Given the description of an element on the screen output the (x, y) to click on. 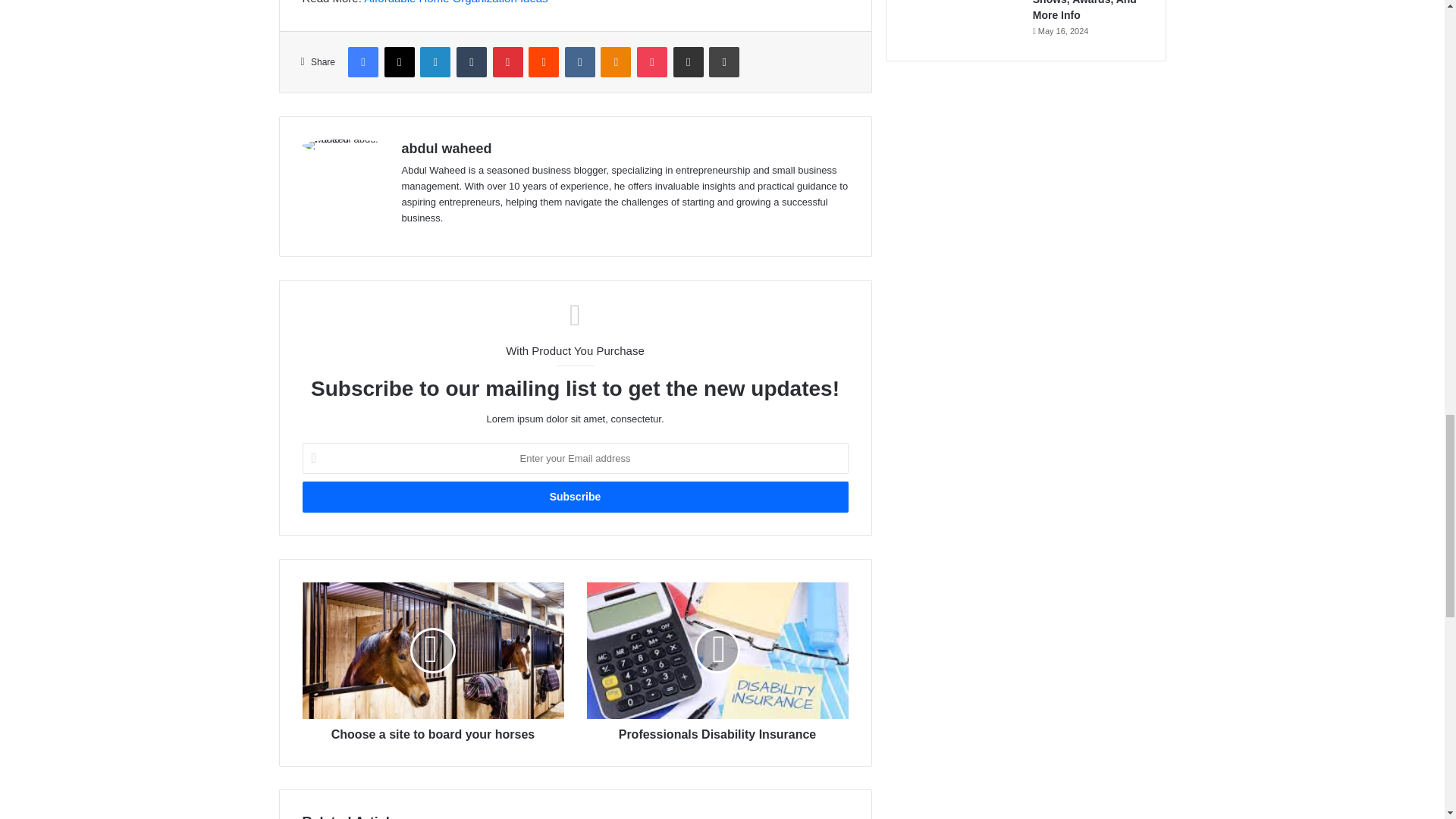
Subscribe (574, 496)
